Given the description of an element on the screen output the (x, y) to click on. 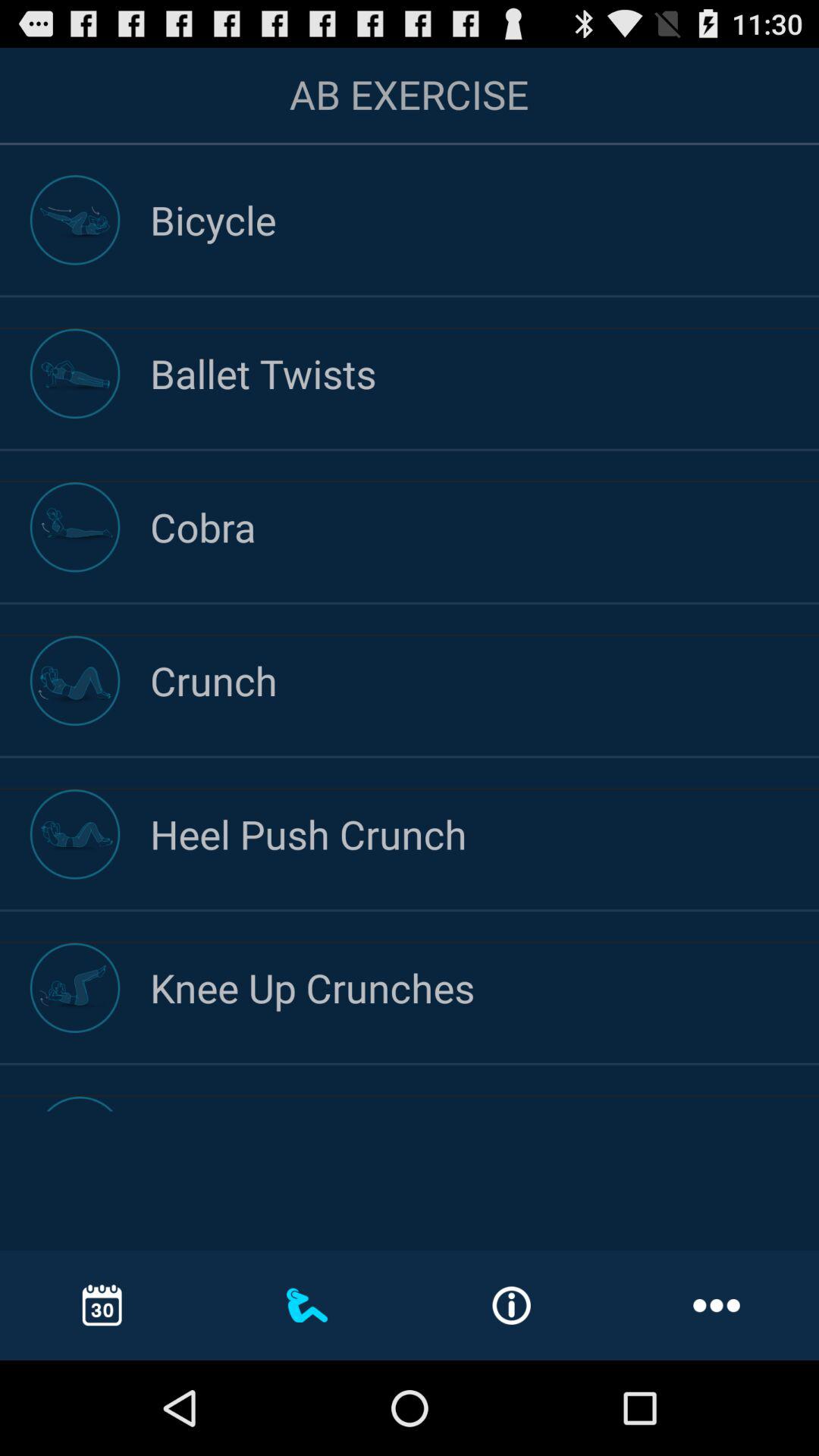
swipe to heel push crunch icon (484, 833)
